Given the description of an element on the screen output the (x, y) to click on. 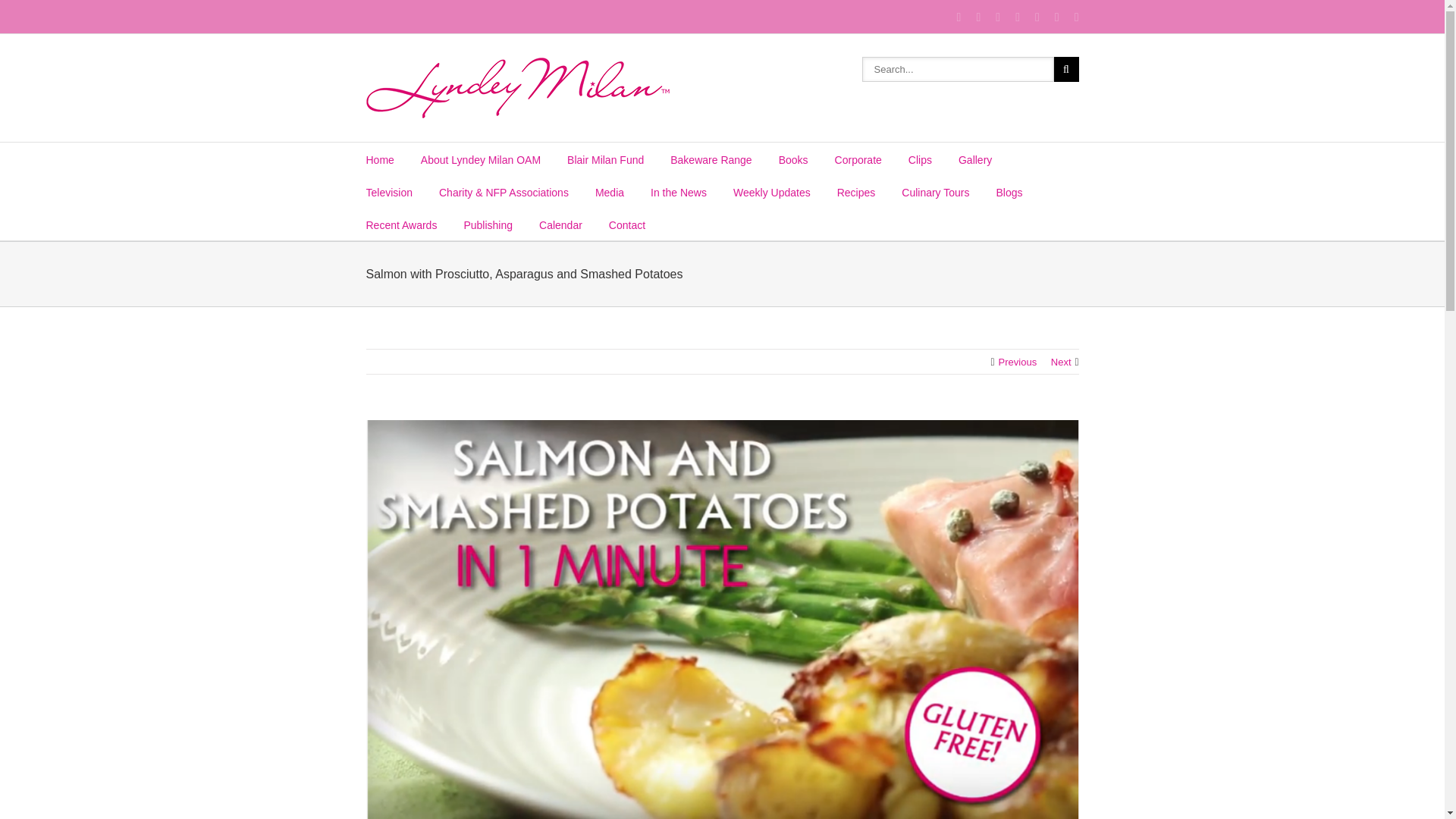
About Lyndey Milan OAM (480, 158)
Corporate (858, 158)
Blair Milan Fund (605, 158)
Weekly Updates (771, 191)
Gallery (974, 158)
Books (793, 158)
Recipes (856, 191)
Television (388, 191)
Culinary Tours (935, 191)
In the News (678, 191)
